Given the description of an element on the screen output the (x, y) to click on. 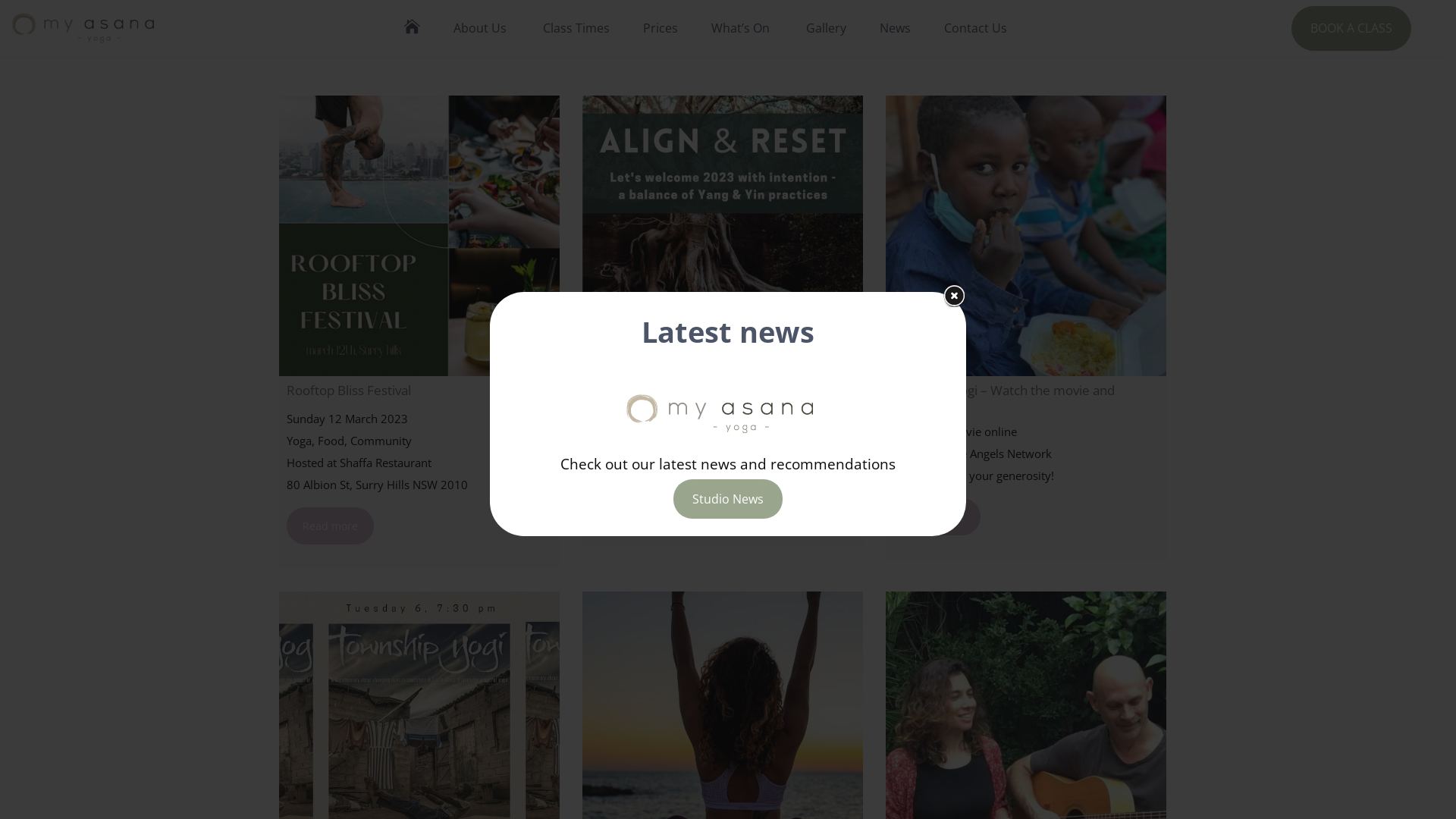
Search Element type: text (886, 409)
Read more Element type: text (633, 503)
Class Times Element type: text (575, 27)
Gallery Element type: text (826, 27)
Read more Element type: text (936, 516)
News Element type: text (894, 27)
Read more Element type: text (329, 525)
Studio News Element type: text (727, 498)
BOOK A CLASS Element type: text (1351, 28)
Prices Element type: text (660, 27)
Align & Reset Workshop Element type: hover (722, 235)
Rooftop Bliss Festival Element type: hover (419, 235)
About Us Element type: text (479, 27)
Contact Us Element type: text (975, 27)
